Given the description of an element on the screen output the (x, y) to click on. 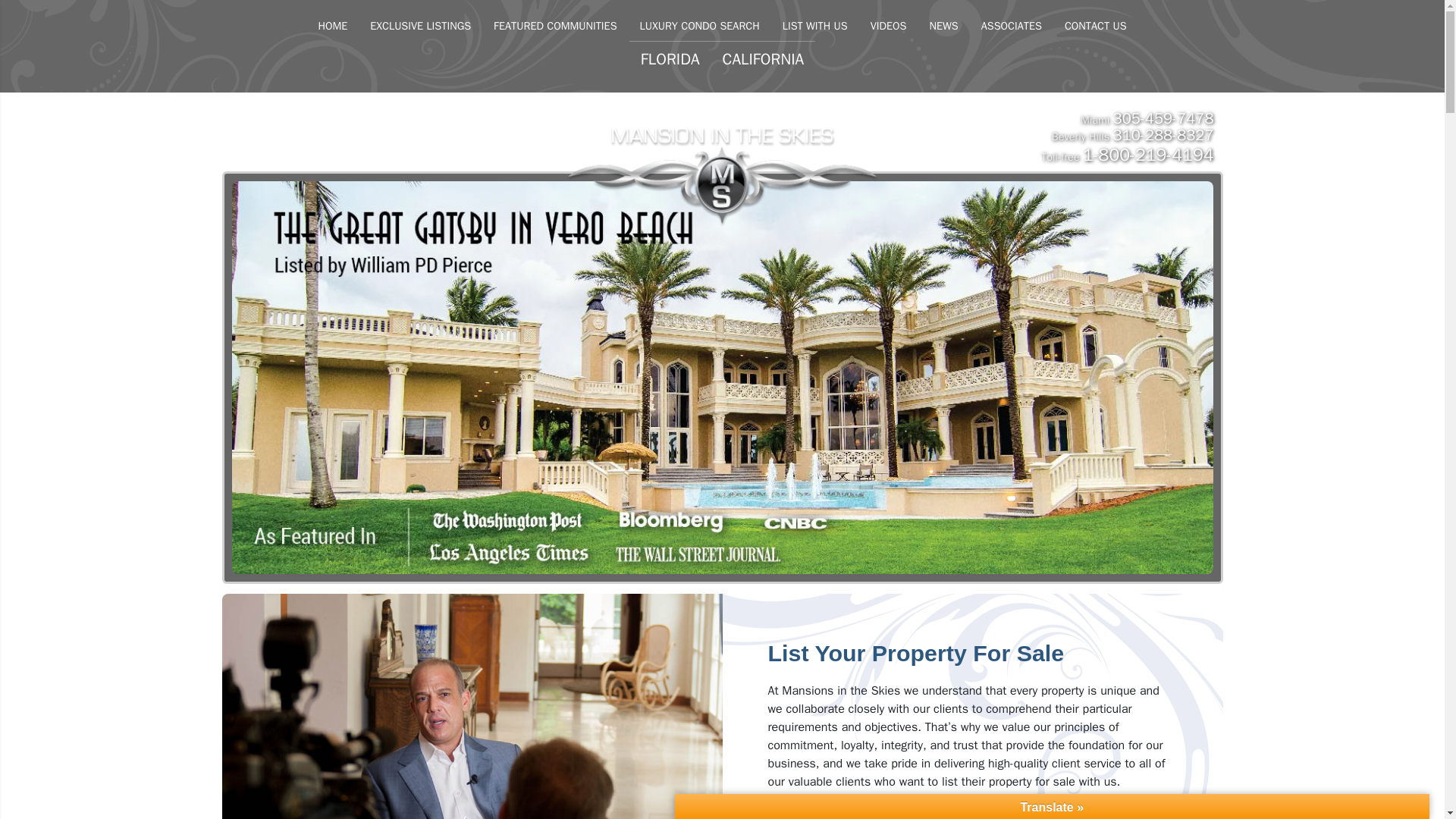
CALIFORNIA (763, 58)
VIDEOS (888, 25)
FLORIDA (669, 58)
ASSOCIATES (1010, 25)
310-288-8327 (1163, 135)
CONTACT US (1095, 25)
Mansions in the Skies - Luxury Condo Real Estate Collection (722, 145)
NEWS (943, 25)
LUXURY CONDO SEARCH (699, 25)
